Given the description of an element on the screen output the (x, y) to click on. 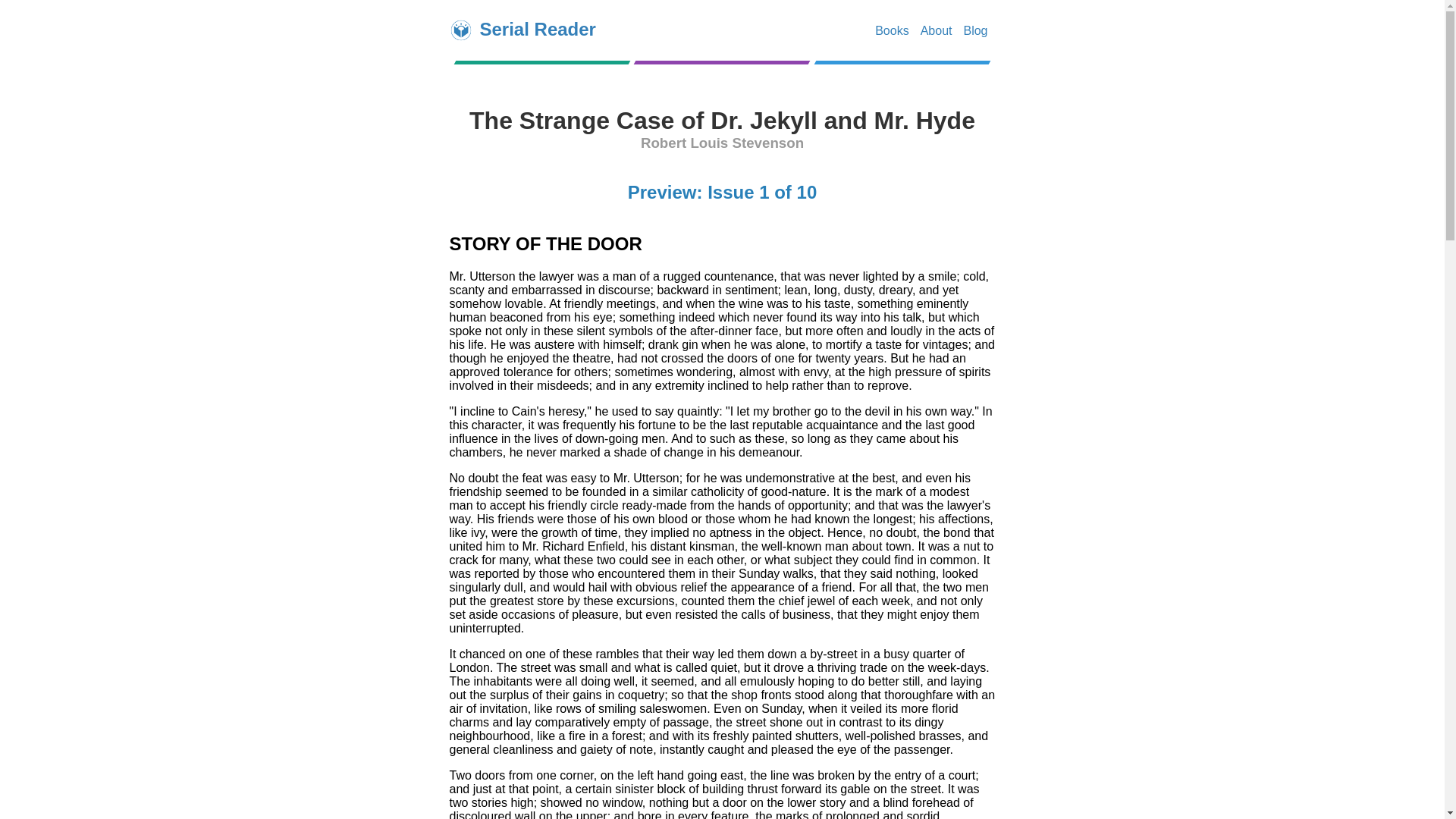
Available books (891, 30)
News, updates, and more (974, 30)
Blog (974, 30)
Books (891, 30)
Contact info, press images, and more (936, 30)
Serial Reader (537, 28)
About (936, 30)
